Given the description of an element on the screen output the (x, y) to click on. 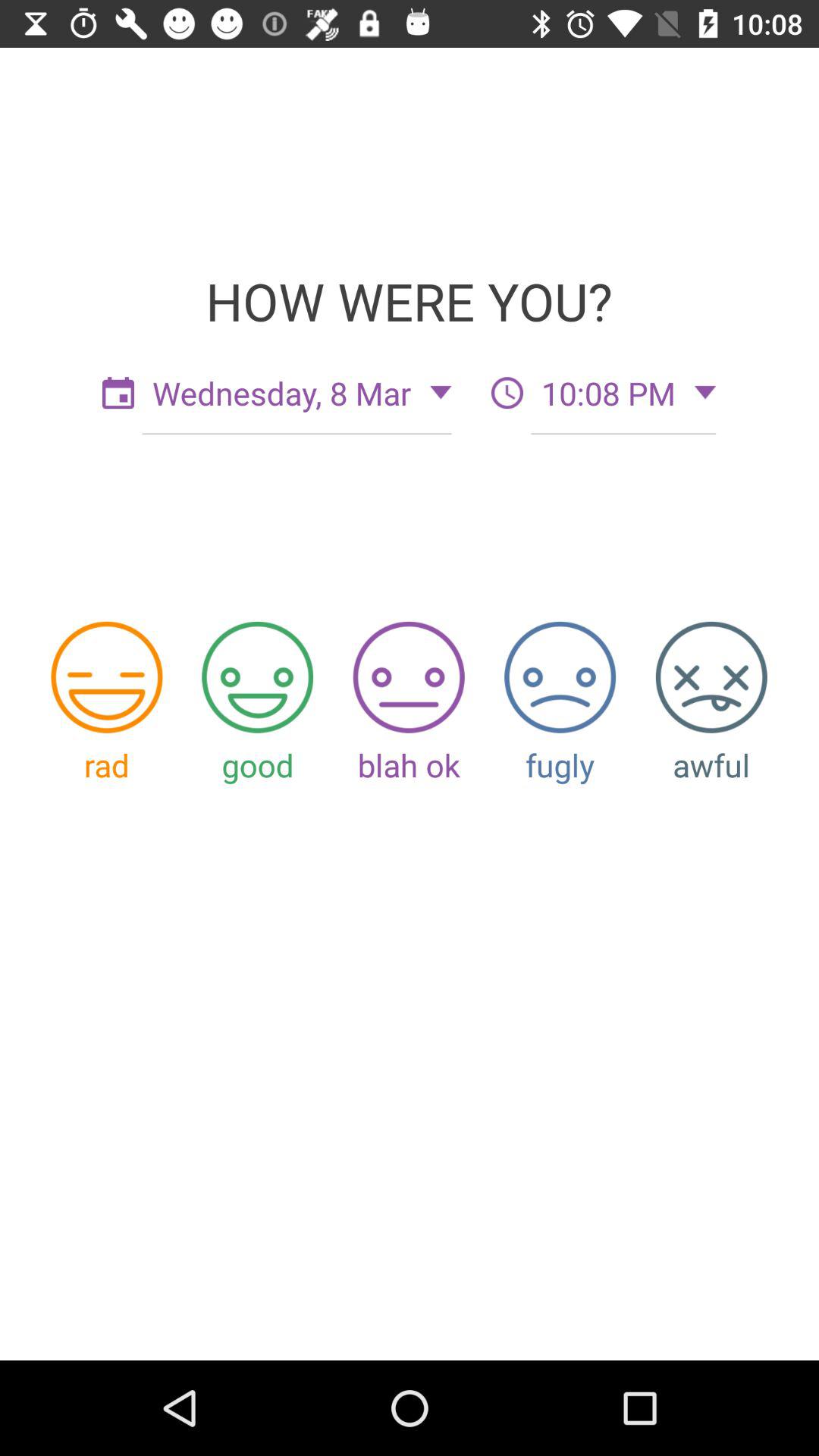
mark as good (257, 677)
